Given the description of an element on the screen output the (x, y) to click on. 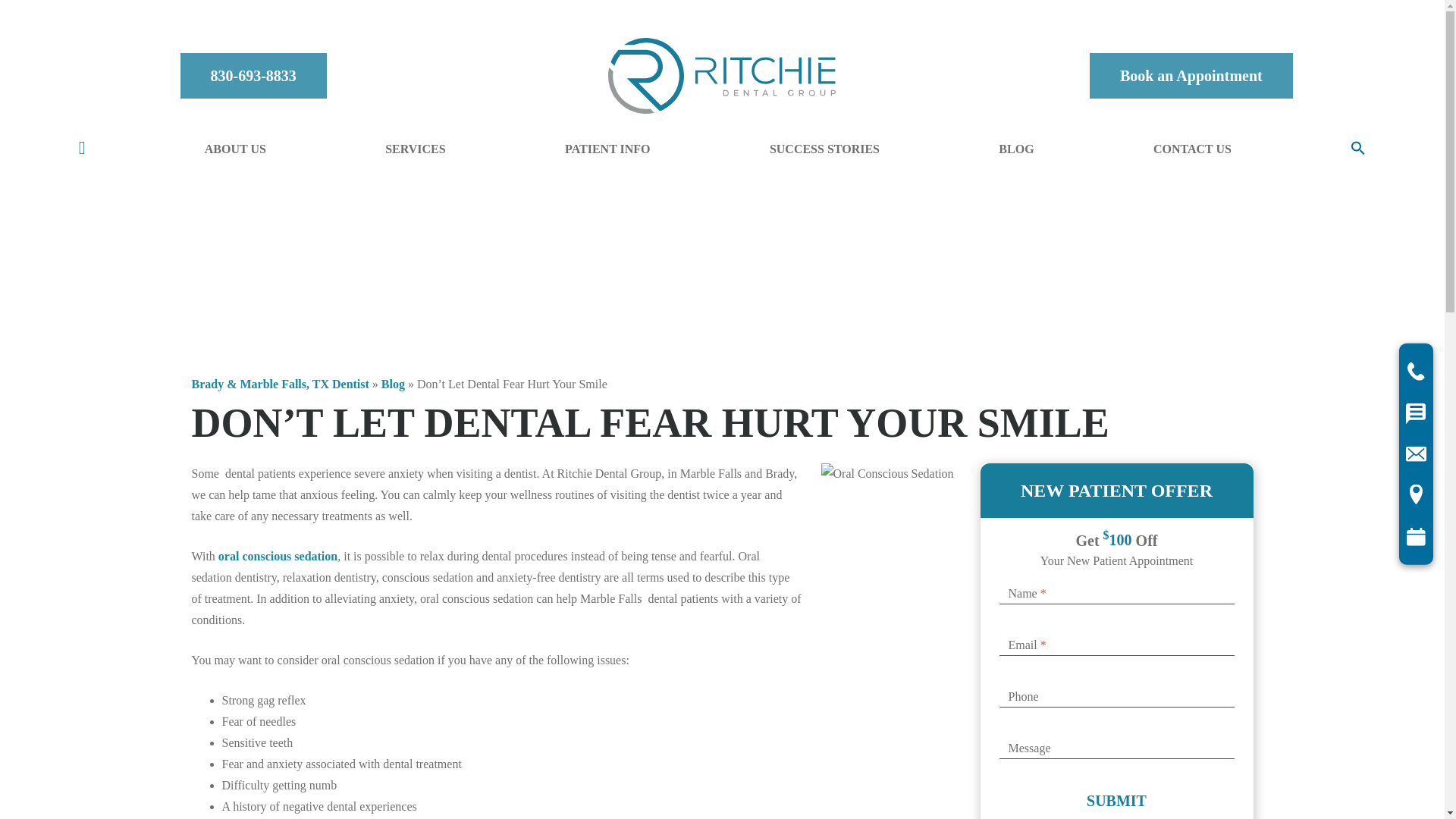
Ritchie Dental Group (721, 75)
ABOUT US (235, 148)
SERVICES (414, 148)
Book an Appointment (1190, 75)
Marble Falls oral conscious sedation (277, 555)
830-693-8833 (253, 75)
